Given the description of an element on the screen output the (x, y) to click on. 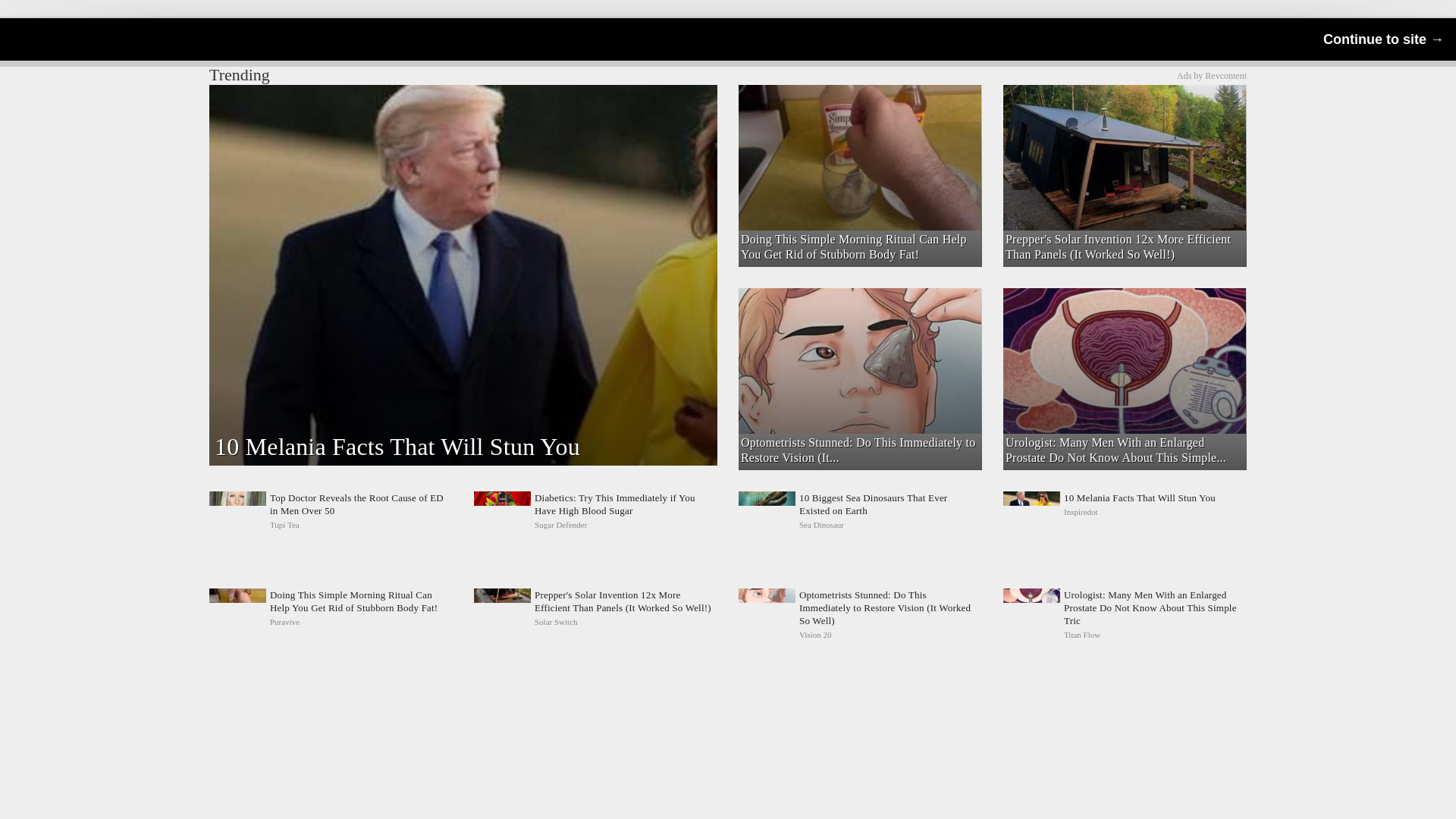
10 Biggest Sea Dinosaurs That Ever Existed on Earth (859, 510)
Top Doctor Reveals the Root Cause of ED in Men Over 50 (330, 510)
Ads by Revcontent (1211, 75)
10 Melania Facts That Will Stun You (1124, 510)
BIDEN FACEPLANTS (859, 111)
